Given the description of an element on the screen output the (x, y) to click on. 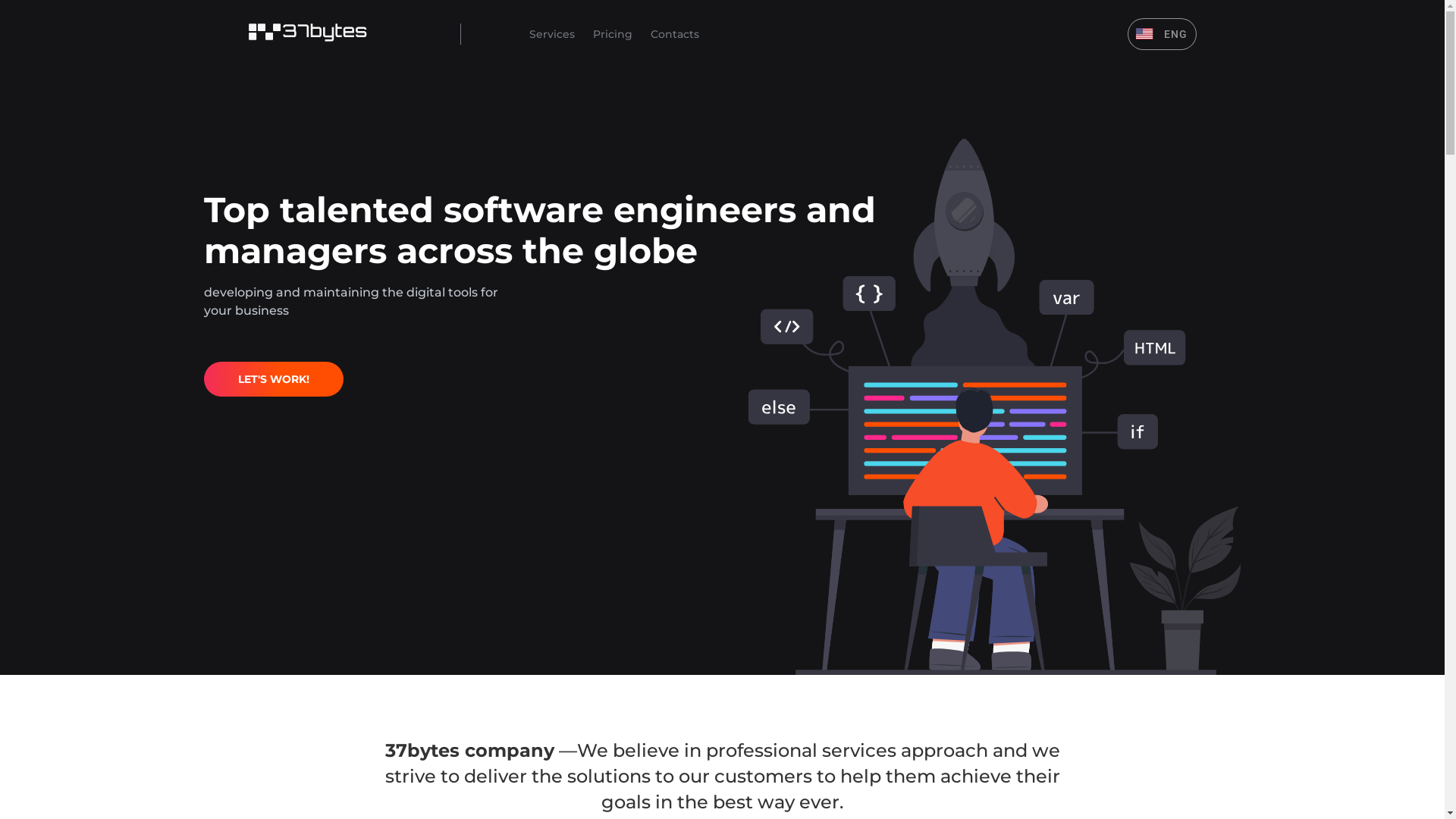
Services Element type: text (551, 33)
Pricing Element type: text (612, 33)
LET'S WORK! Element type: text (272, 378)
ENG Element type: text (1161, 34)
Contacts Element type: text (674, 33)
